Given the description of an element on the screen output the (x, y) to click on. 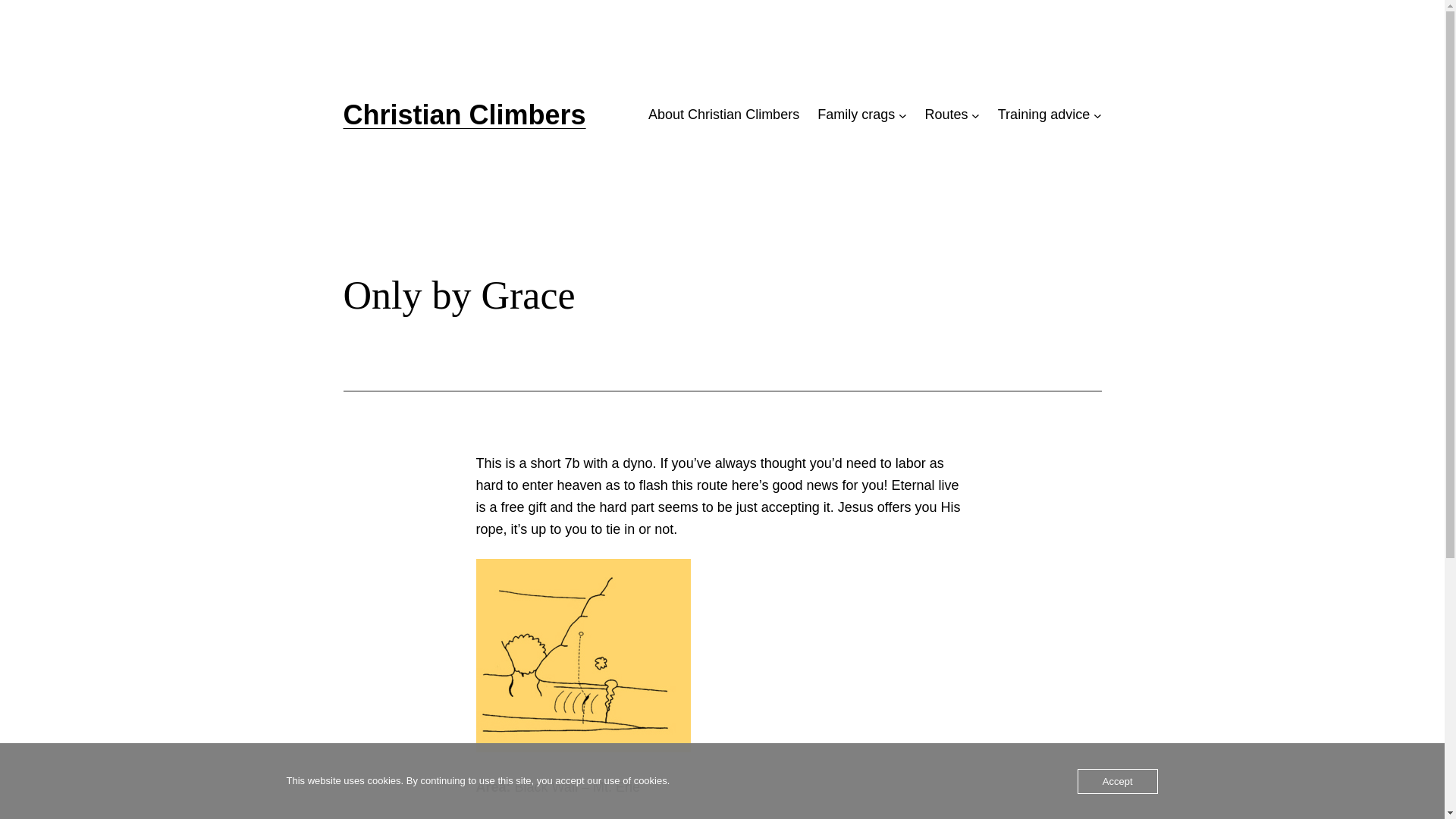
About Christian Climbers Element type: text (723, 114)
Christian Climbers Element type: text (463, 114)
Training advice Element type: text (1043, 114)
Accept Element type: text (1117, 780)
Family crags Element type: text (855, 114)
Routes Element type: text (945, 114)
Only_by_Grace_topo Element type: hover (583, 655)
